Given the description of an element on the screen output the (x, y) to click on. 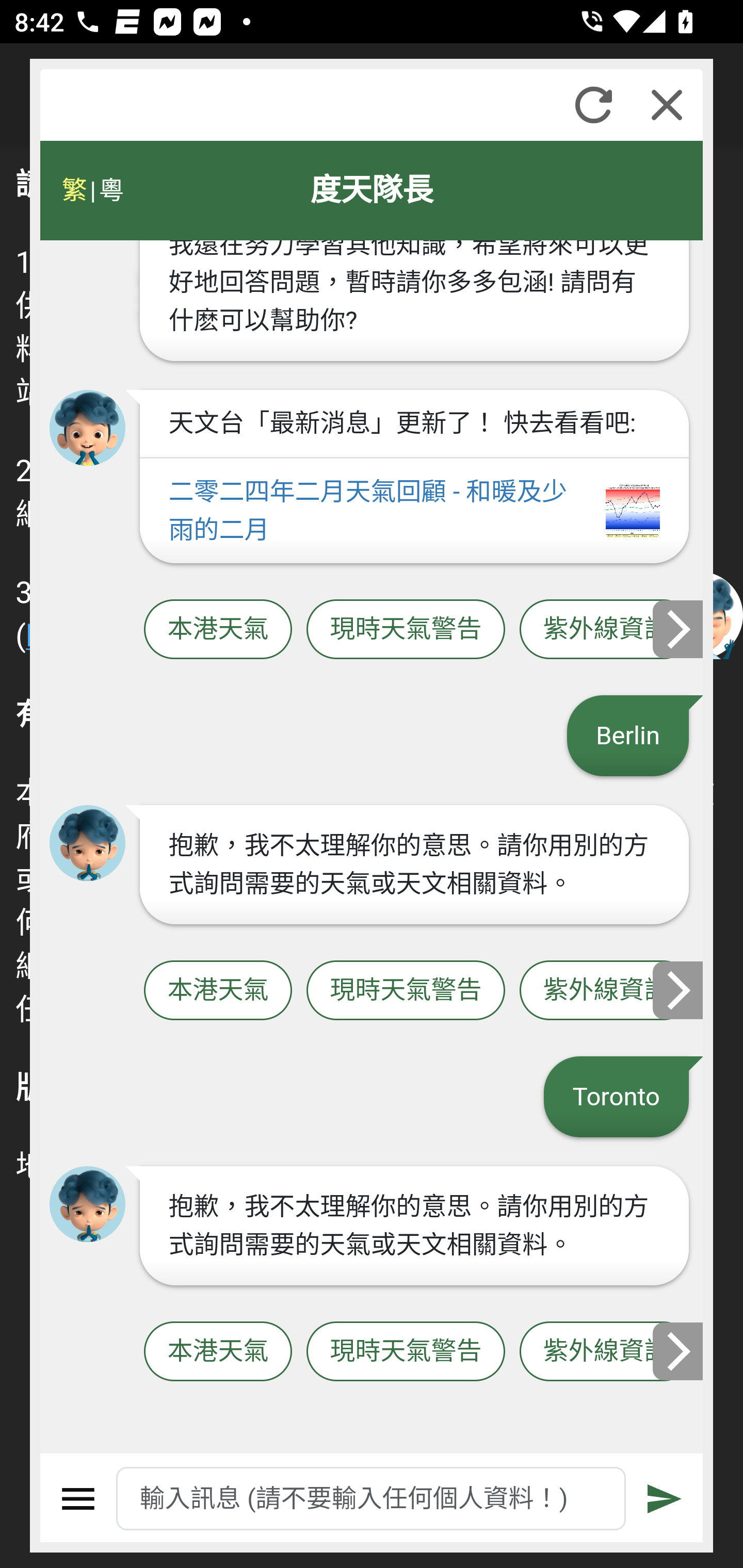
重新整理 (593, 104)
關閉 (666, 104)
繁 (73, 190)
粵 (110, 190)
二零二四年二月天氣回顧 - 和暖及少雨的二月 (413, 510)
本港天氣 (217, 629)
現時天氣警告 (405, 629)
紫外線資訊 (605, 629)
下一張 (678, 628)
本港天氣 (217, 990)
現時天氣警告 (405, 990)
紫外線資訊 (605, 990)
下一張 (678, 989)
本港天氣 (217, 1351)
現時天氣警告 (405, 1351)
紫外線資訊 (605, 1351)
下一張 (678, 1351)
選單 (78, 1498)
遞交 (665, 1498)
